Given the description of an element on the screen output the (x, y) to click on. 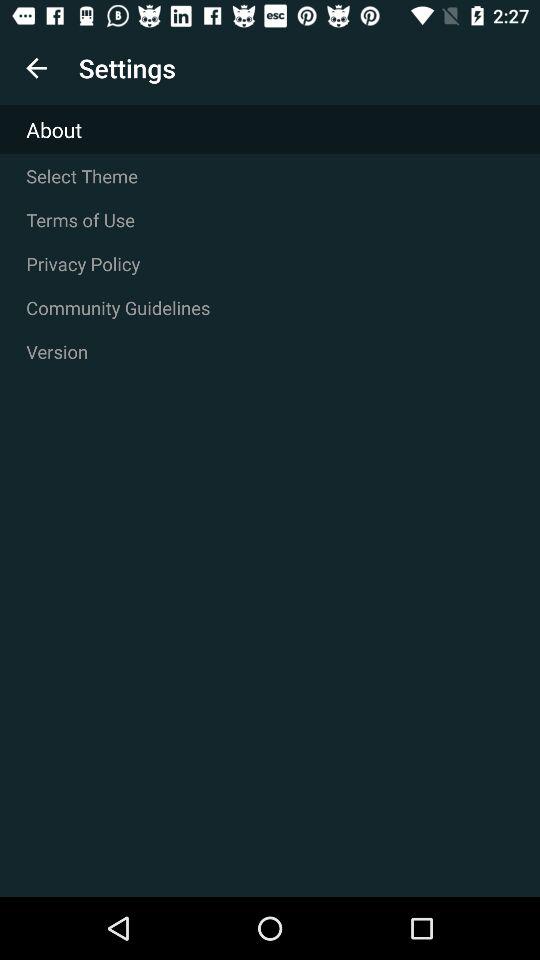
click icon above version icon (270, 307)
